Given the description of an element on the screen output the (x, y) to click on. 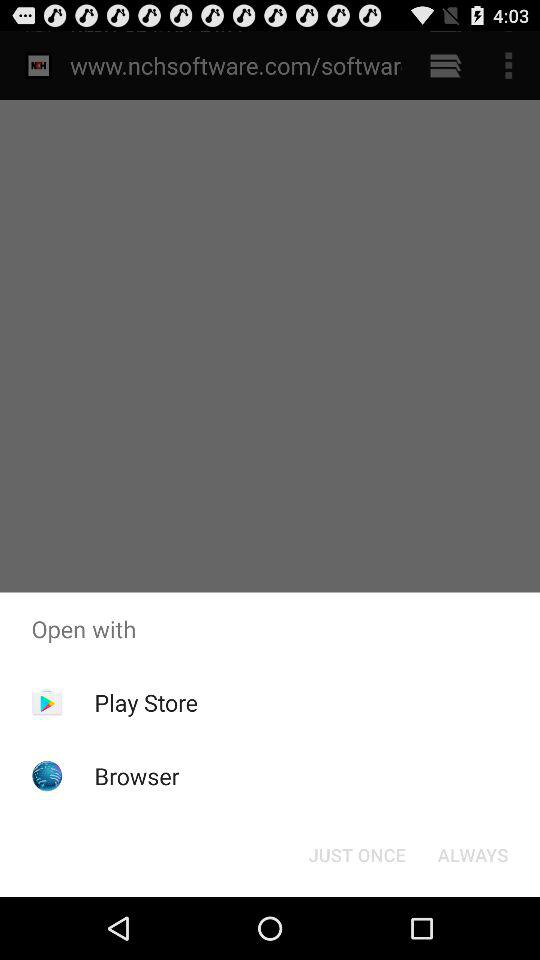
tap item at the bottom (356, 854)
